Given the description of an element on the screen output the (x, y) to click on. 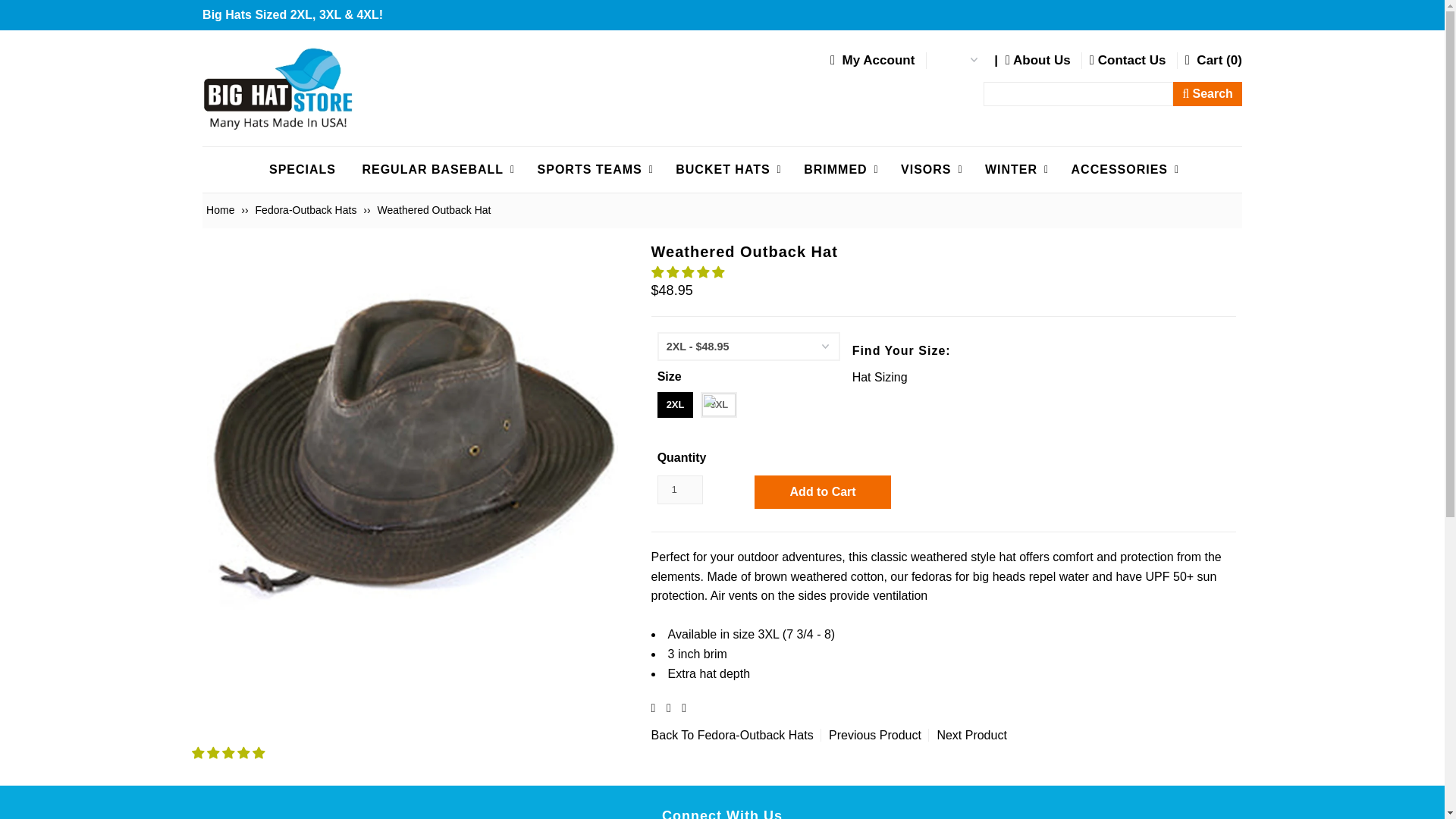
Home (222, 209)
1 (680, 489)
Add to Cart (822, 491)
